Given the description of an element on the screen output the (x, y) to click on. 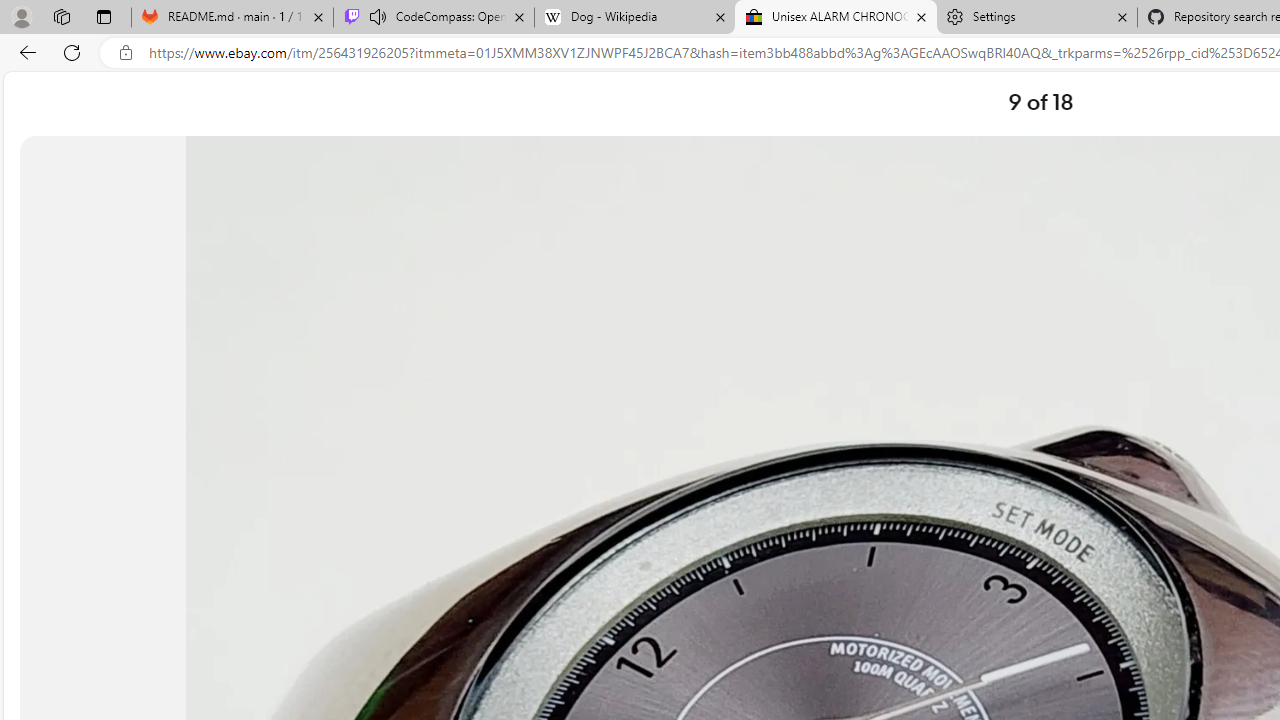
Mute tab (377, 16)
Dog - Wikipedia (634, 17)
